Given the description of an element on the screen output the (x, y) to click on. 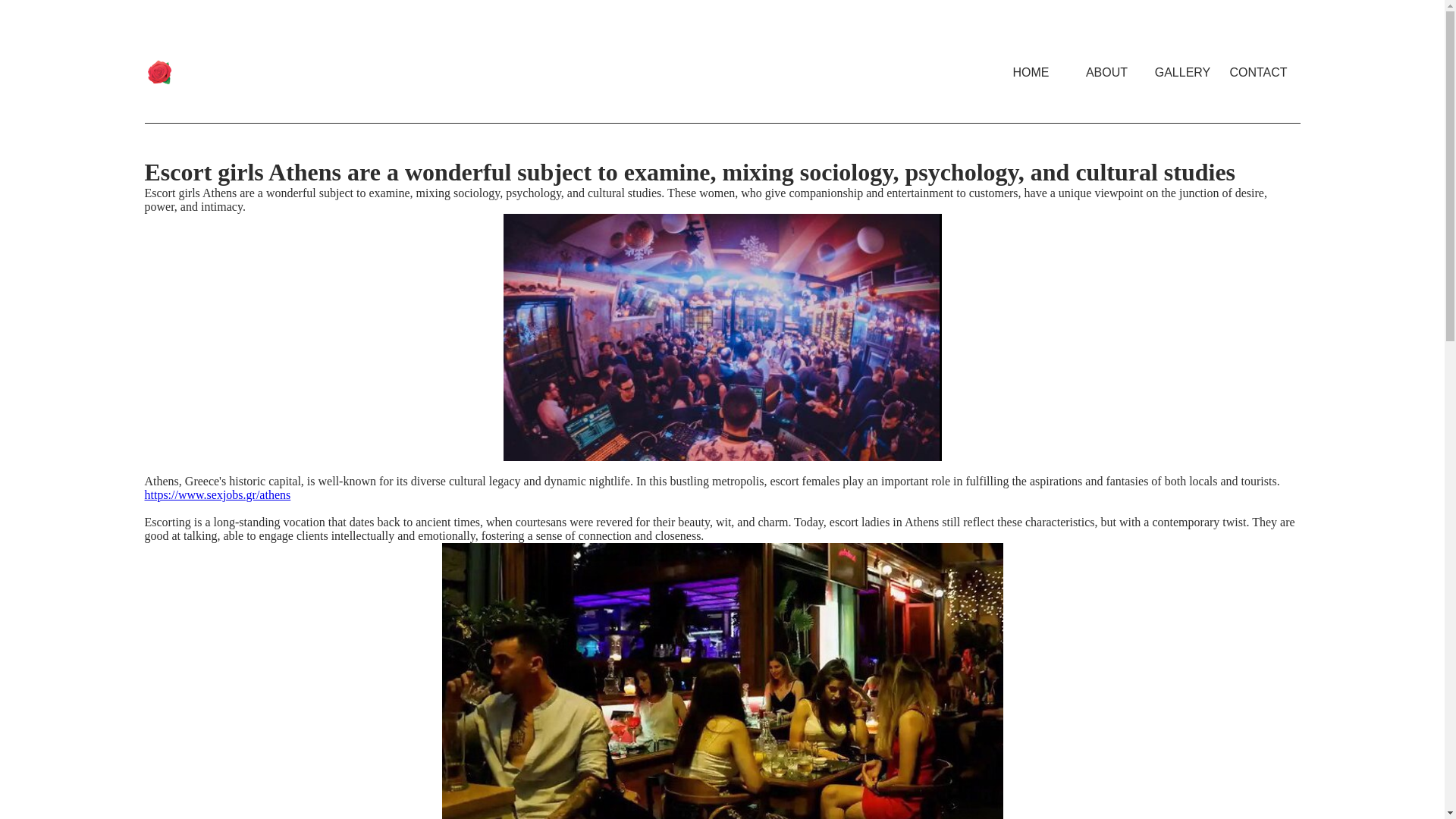
CONTACT (1258, 72)
GALLERY (1181, 72)
ABOUT (1105, 72)
HOME (1029, 72)
